Given the description of an element on the screen output the (x, y) to click on. 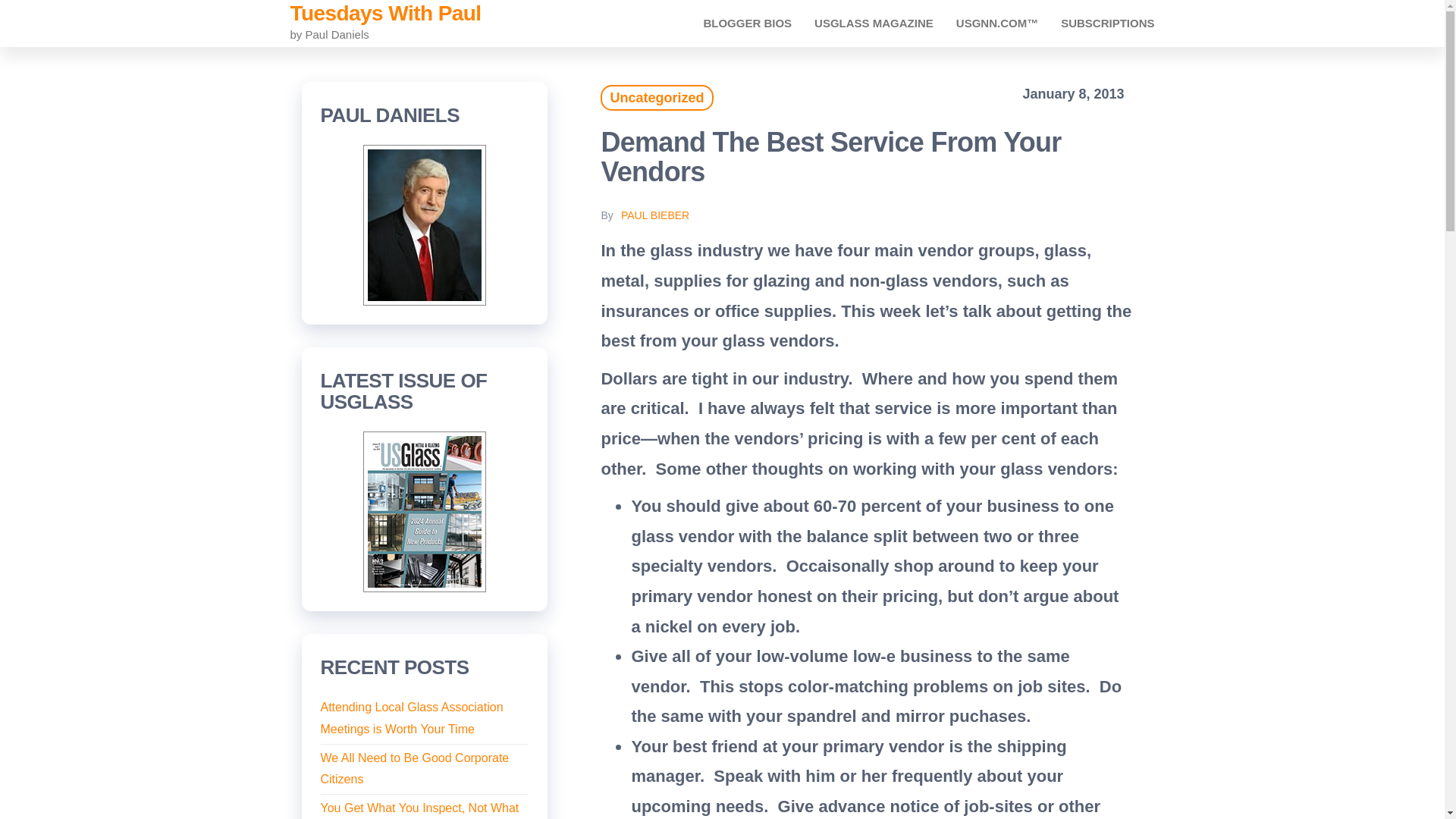
BLOGGER BIOS (747, 22)
Uncategorized (656, 97)
Tuesdays With Paul (384, 13)
You Get What You Inspect, Not What You Expect (419, 810)
USGLASS MAGAZINE (873, 22)
SUBSCRIPTIONS (1107, 22)
PAUL BIEBER (654, 215)
Blogger Bios (747, 22)
We All Need to Be Good Corporate Citizens (414, 768)
